Given the description of an element on the screen output the (x, y) to click on. 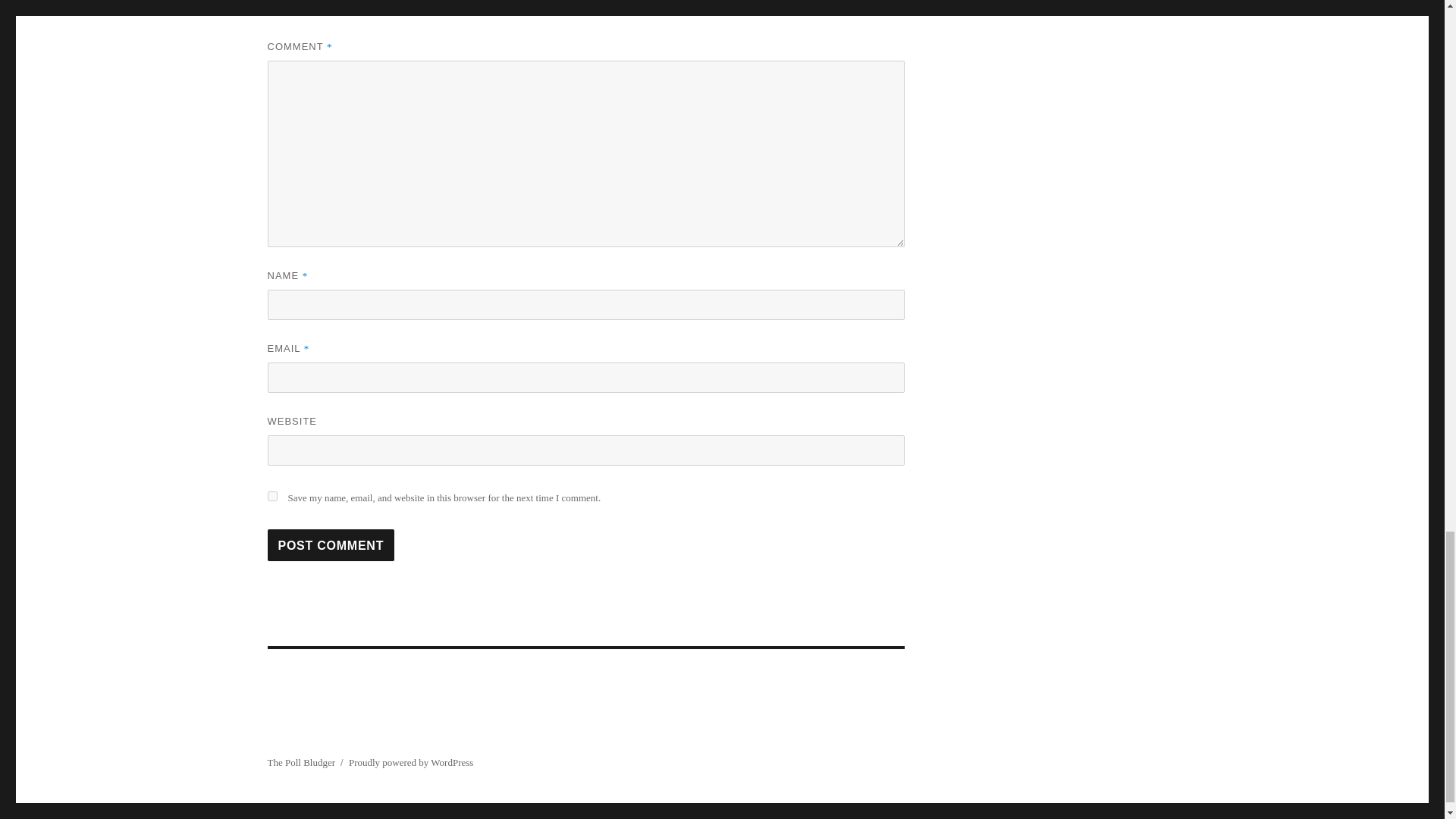
Proudly powered by WordPress (411, 762)
The Poll Bludger (300, 762)
Post Comment (330, 545)
yes (271, 496)
Post Comment (330, 545)
